Given the description of an element on the screen output the (x, y) to click on. 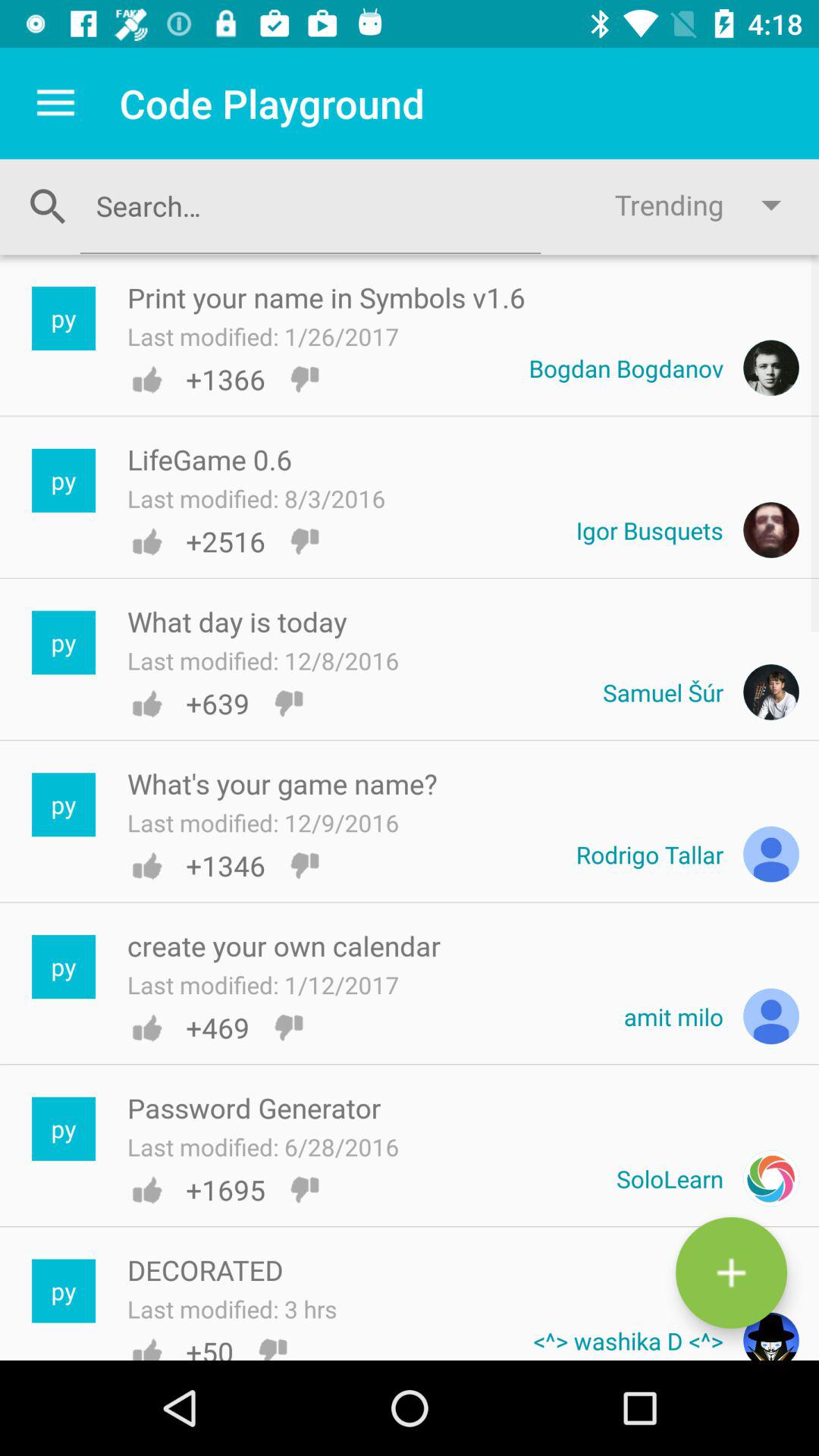
add page (731, 1272)
